Given the description of an element on the screen output the (x, y) to click on. 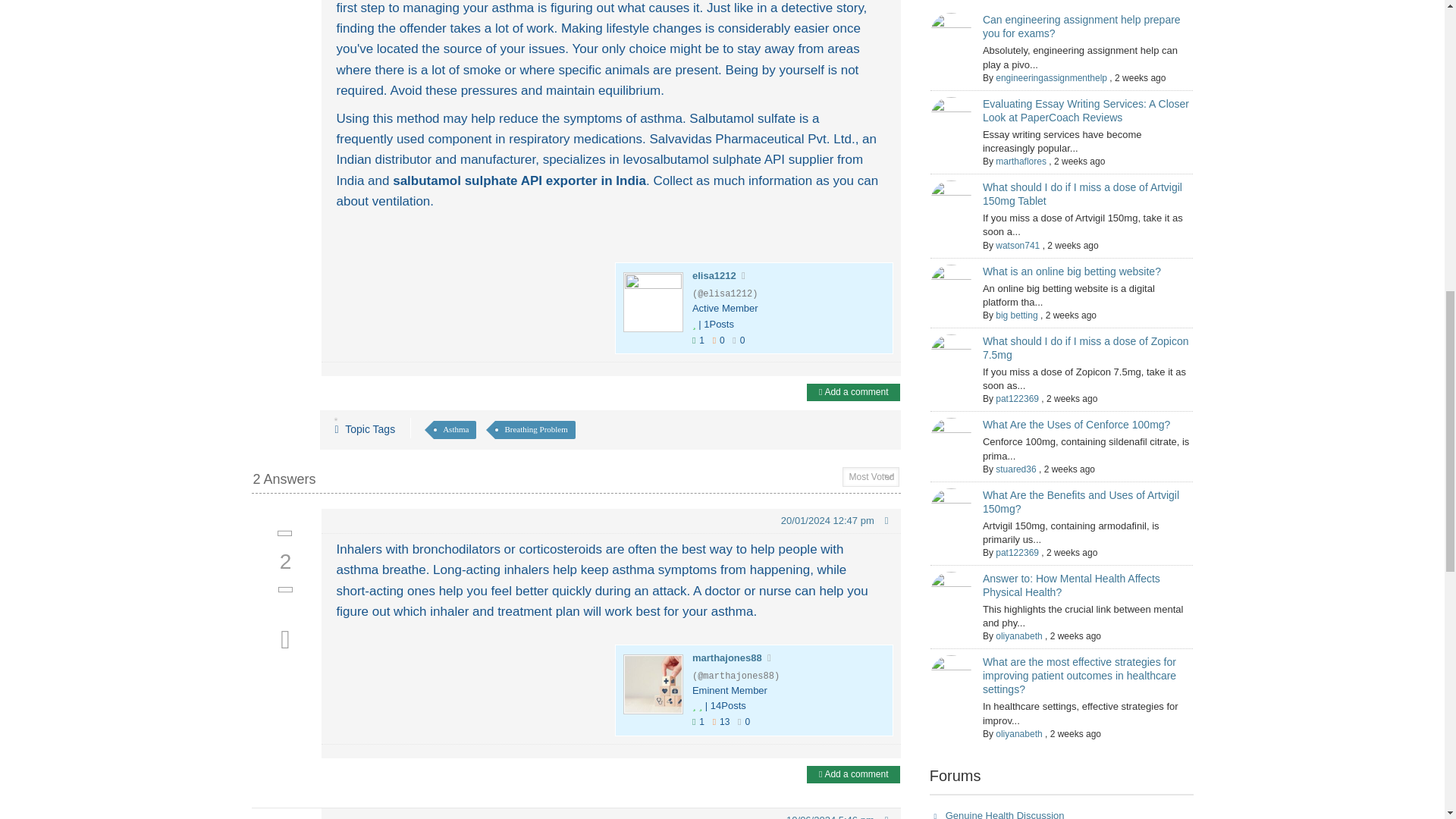
elisa1212 (714, 275)
engineeringassignmenthelp (1050, 77)
Rating Title (725, 308)
marthajones88 (727, 657)
Rating Title (730, 691)
Asthma (454, 429)
marthajones88 (652, 684)
Breathing Problem (535, 429)
Can engineering assignment help prepare you for exams? (1081, 26)
elisa1212 (714, 275)
marthajones88 (727, 657)
